Given the description of an element on the screen output the (x, y) to click on. 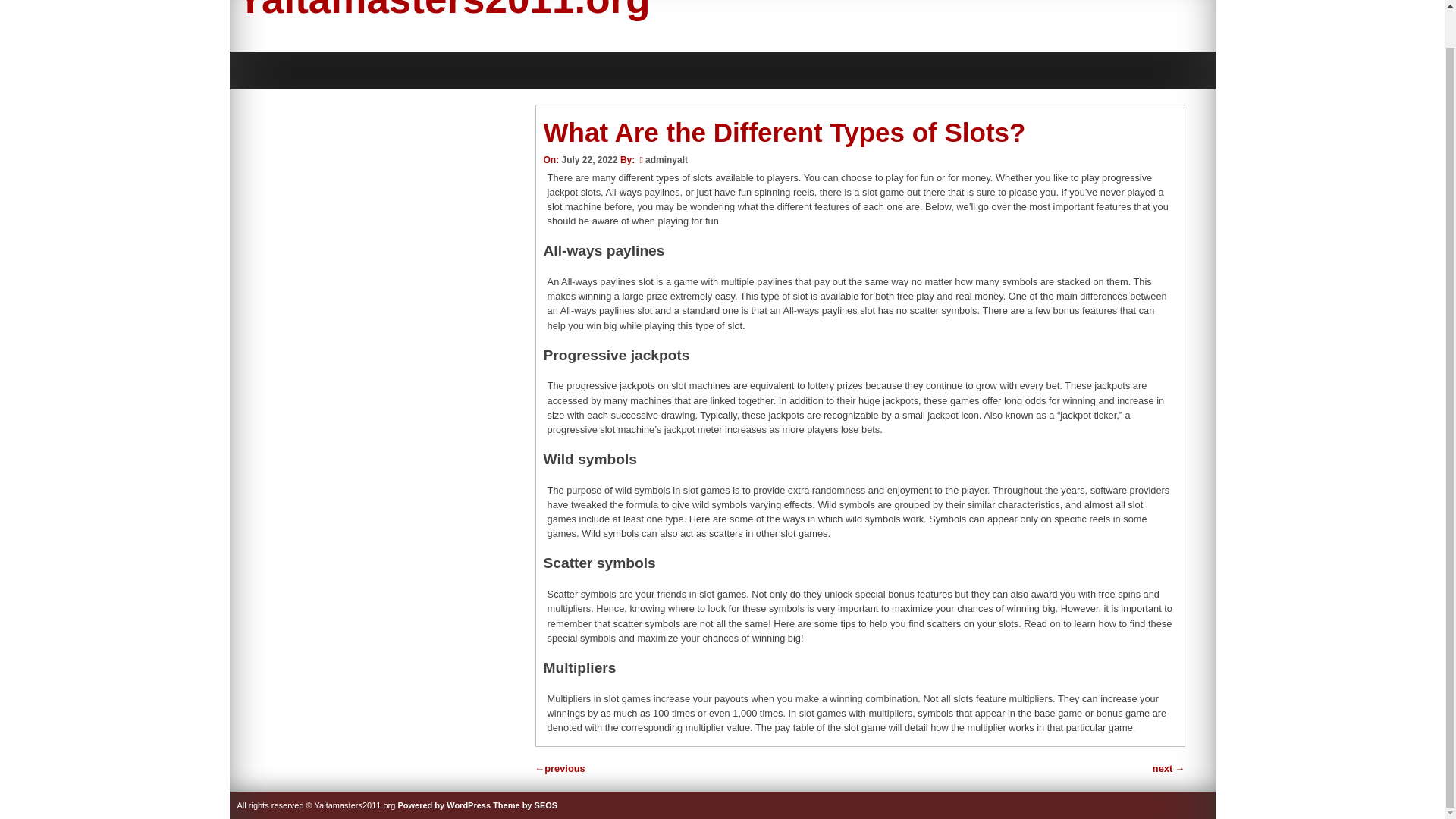
July 22, 2022 (588, 159)
adminyalt (666, 159)
Powered by WordPress (443, 804)
Yaltamasters2011.org (442, 10)
Theme by SEOS (525, 804)
Seos free wordpress themes (525, 804)
